Given the description of an element on the screen output the (x, y) to click on. 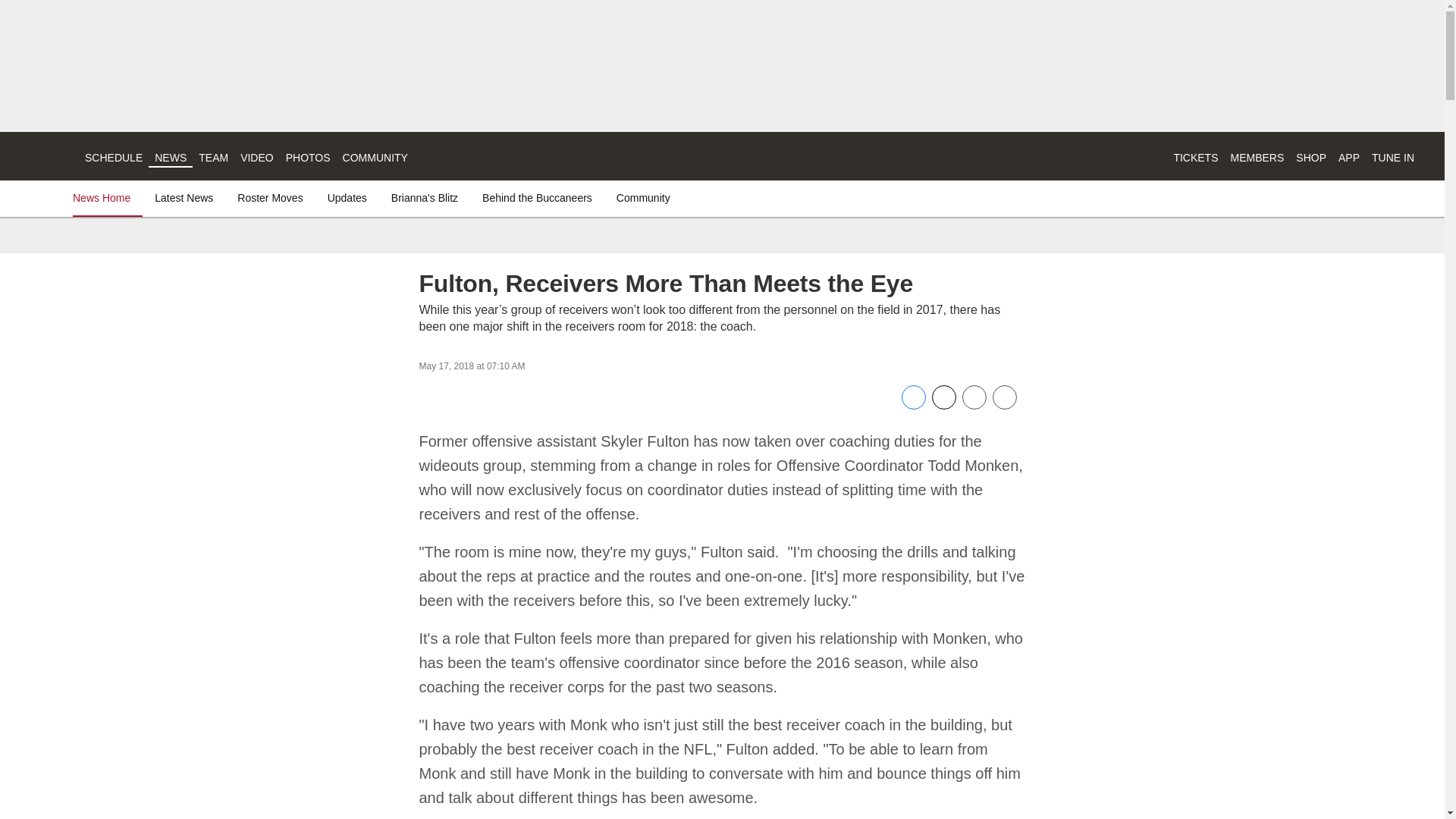
COMMUNITY (374, 157)
APP (1348, 157)
Behind the Buccaneers (537, 197)
Latest News (183, 197)
TICKETS (1195, 157)
Community (643, 197)
VIDEO (256, 157)
SHOP (1310, 157)
TUNE IN (1392, 157)
News Home (104, 197)
